Given the description of an element on the screen output the (x, y) to click on. 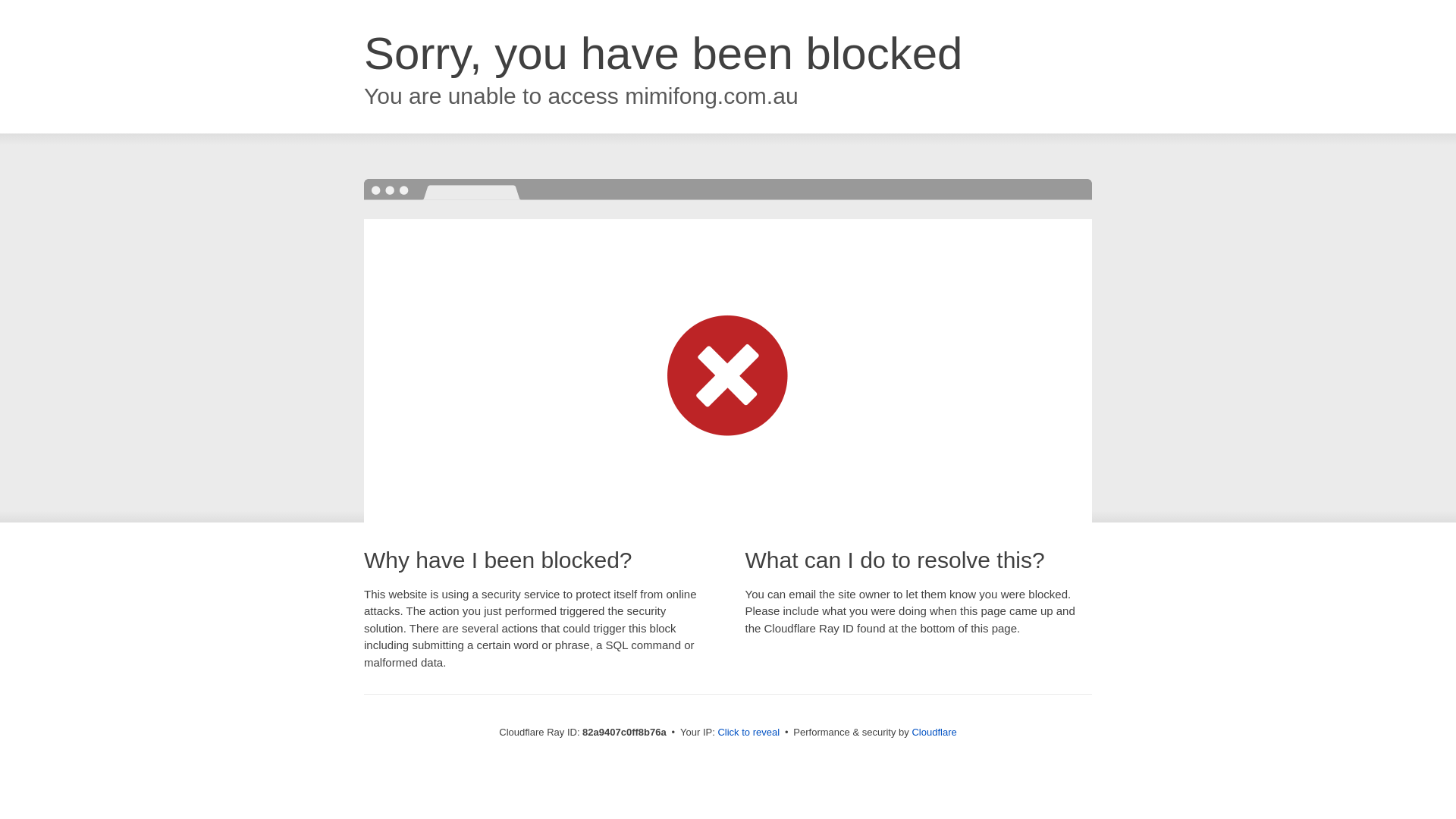
Click to reveal Element type: text (748, 732)
Cloudflare Element type: text (933, 731)
